Given the description of an element on the screen output the (x, y) to click on. 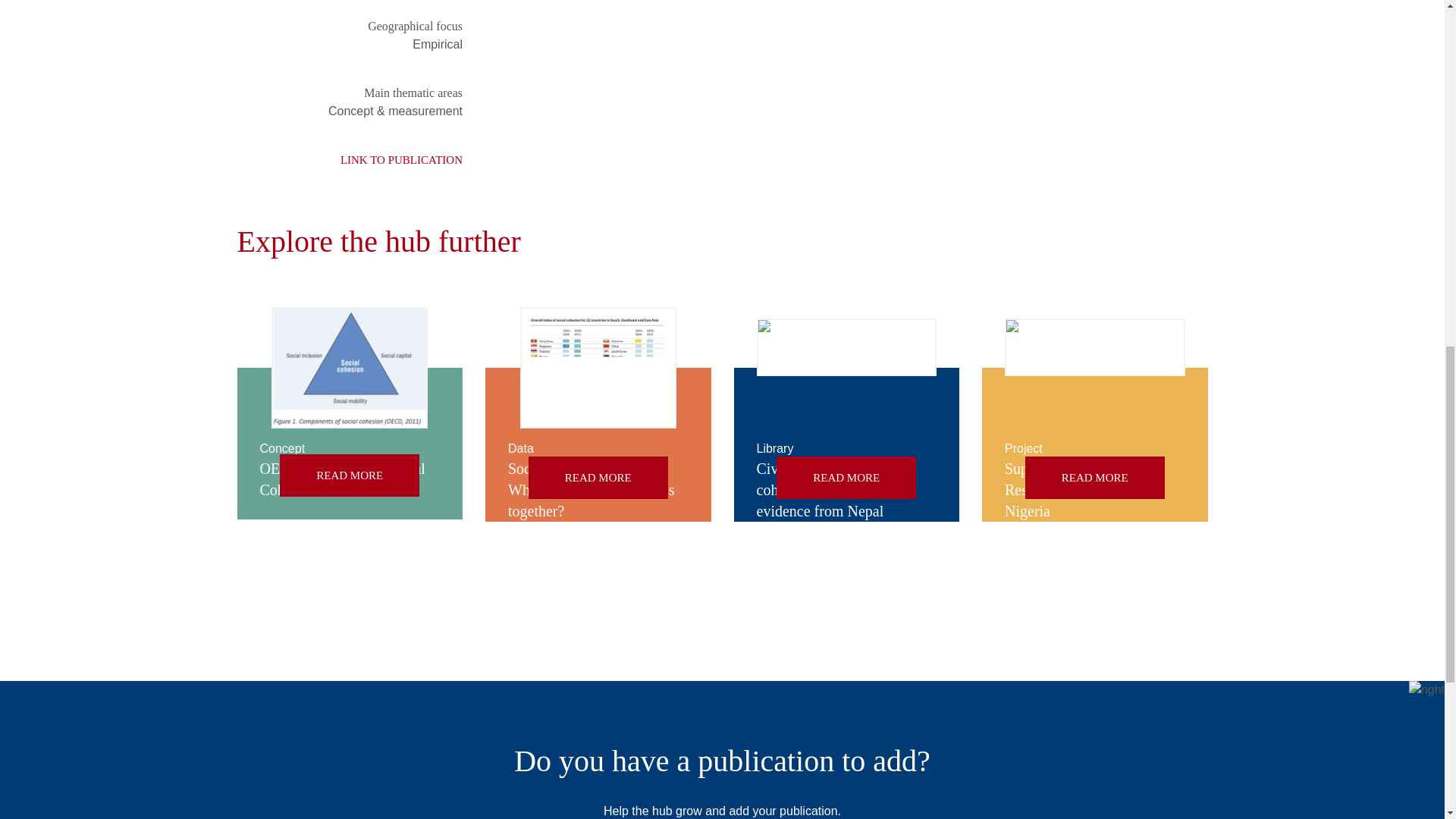
READ MORE (598, 477)
LINK TO PUBLICATION (349, 159)
READ MORE (845, 477)
READ MORE (1094, 477)
READ MORE (349, 475)
